Given the description of an element on the screen output the (x, y) to click on. 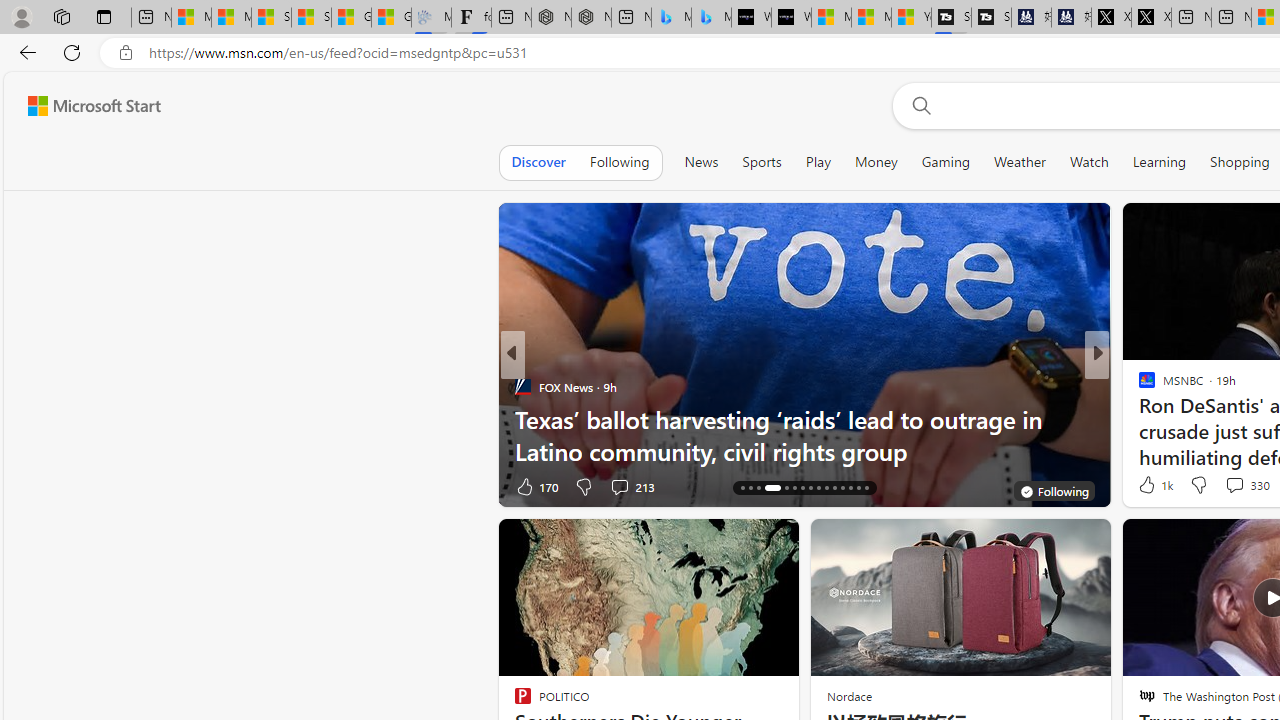
Weather (1019, 162)
Hide this story (738, 542)
View comments 266 Comment (1234, 485)
View comments 2 Comment (1234, 486)
18 Like (1149, 486)
LGBTQ Nation (1138, 386)
View comments 330 Comment (1234, 485)
Learning (1159, 162)
AutomationID: tab-24 (818, 487)
